Given the description of an element on the screen output the (x, y) to click on. 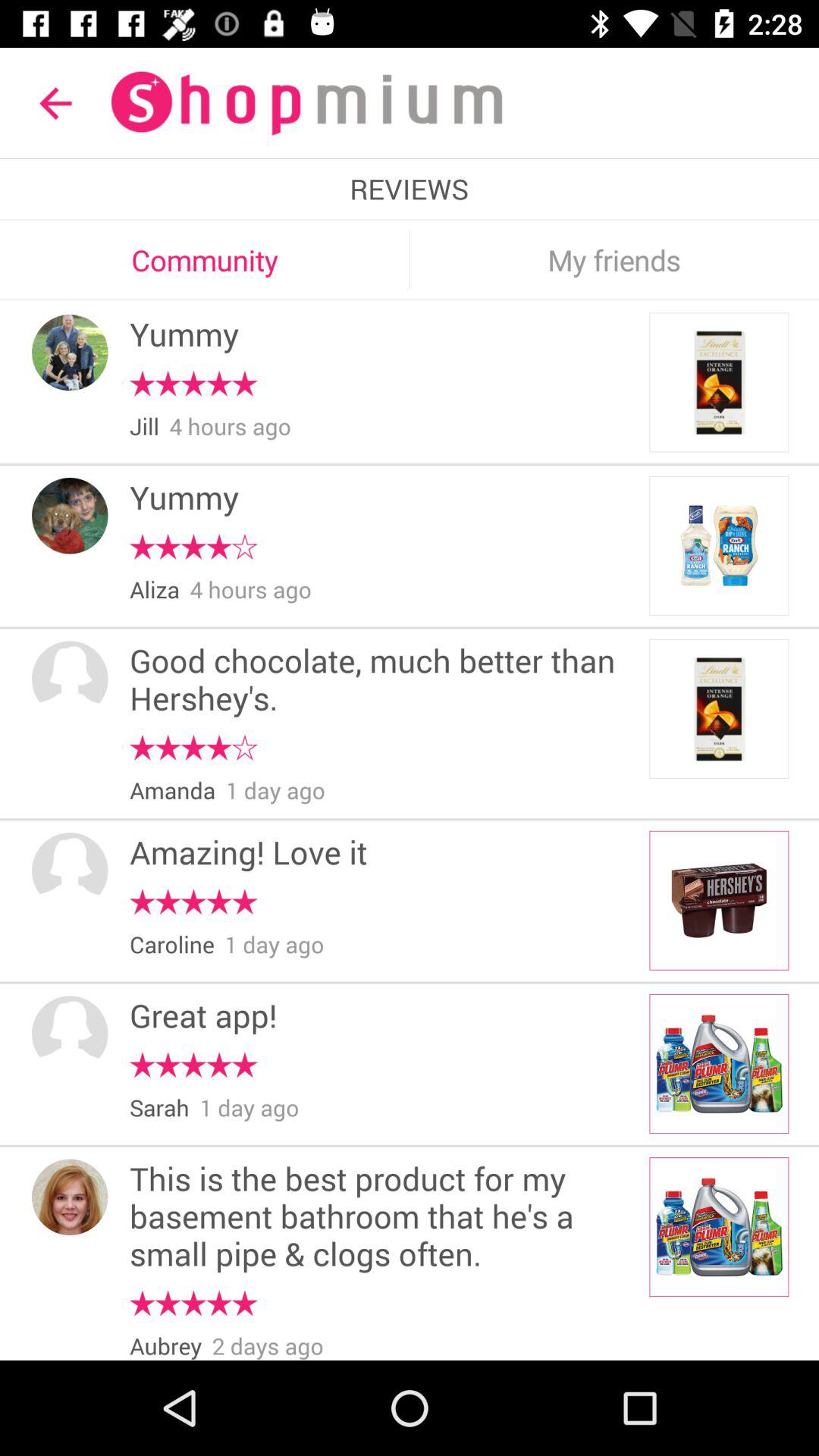
open item next to the 1 day ago icon (172, 791)
